Given the description of an element on the screen output the (x, y) to click on. 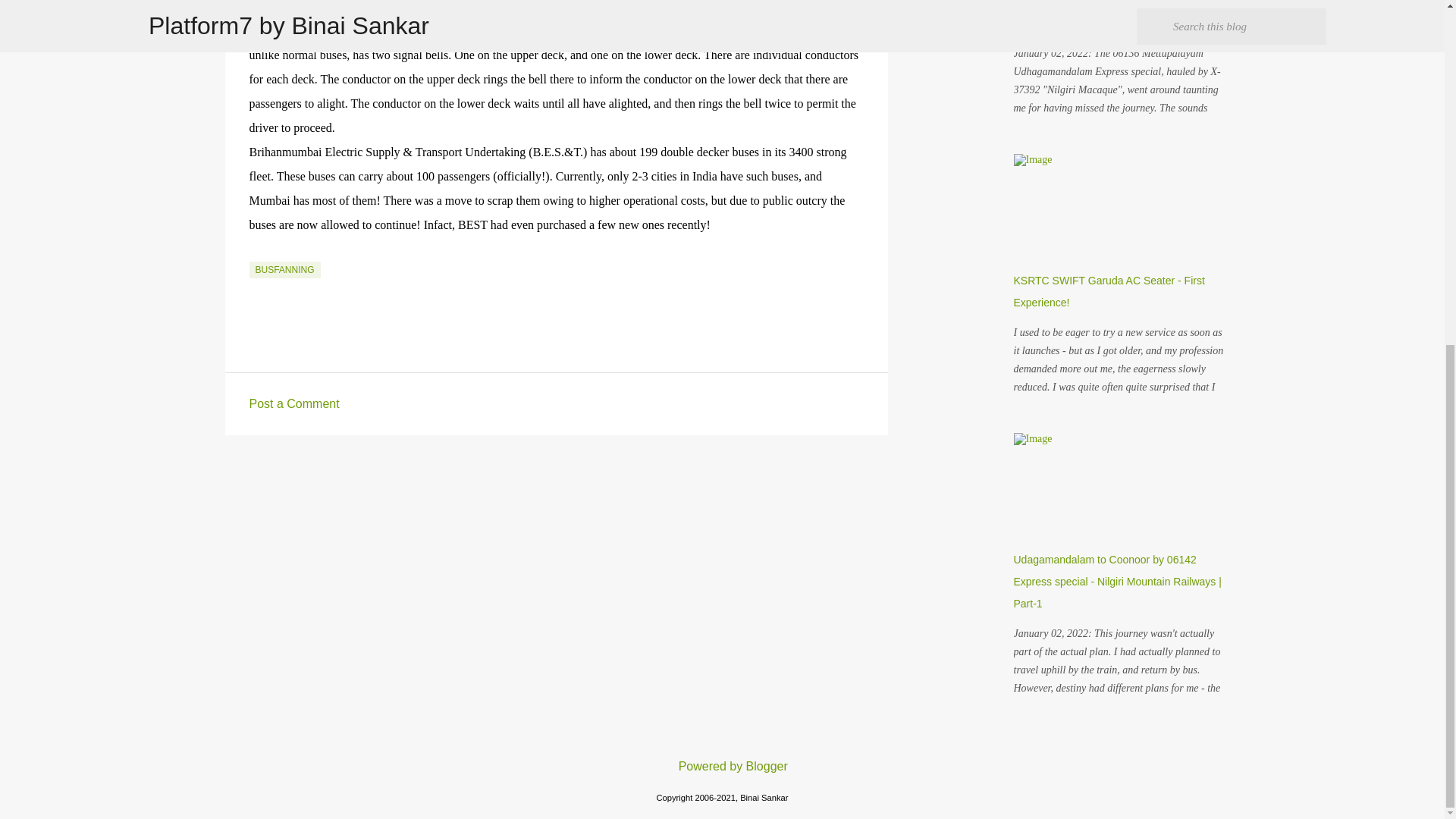
KSRTC SWIFT Garuda AC Seater - First Experience! (1108, 291)
Post a Comment (293, 403)
Mettupalayam to Ooty by TNSTC Express bus (1111, 14)
Email Post (257, 252)
Powered by Blogger (721, 766)
BUSFANNING (284, 269)
